Given the description of an element on the screen output the (x, y) to click on. 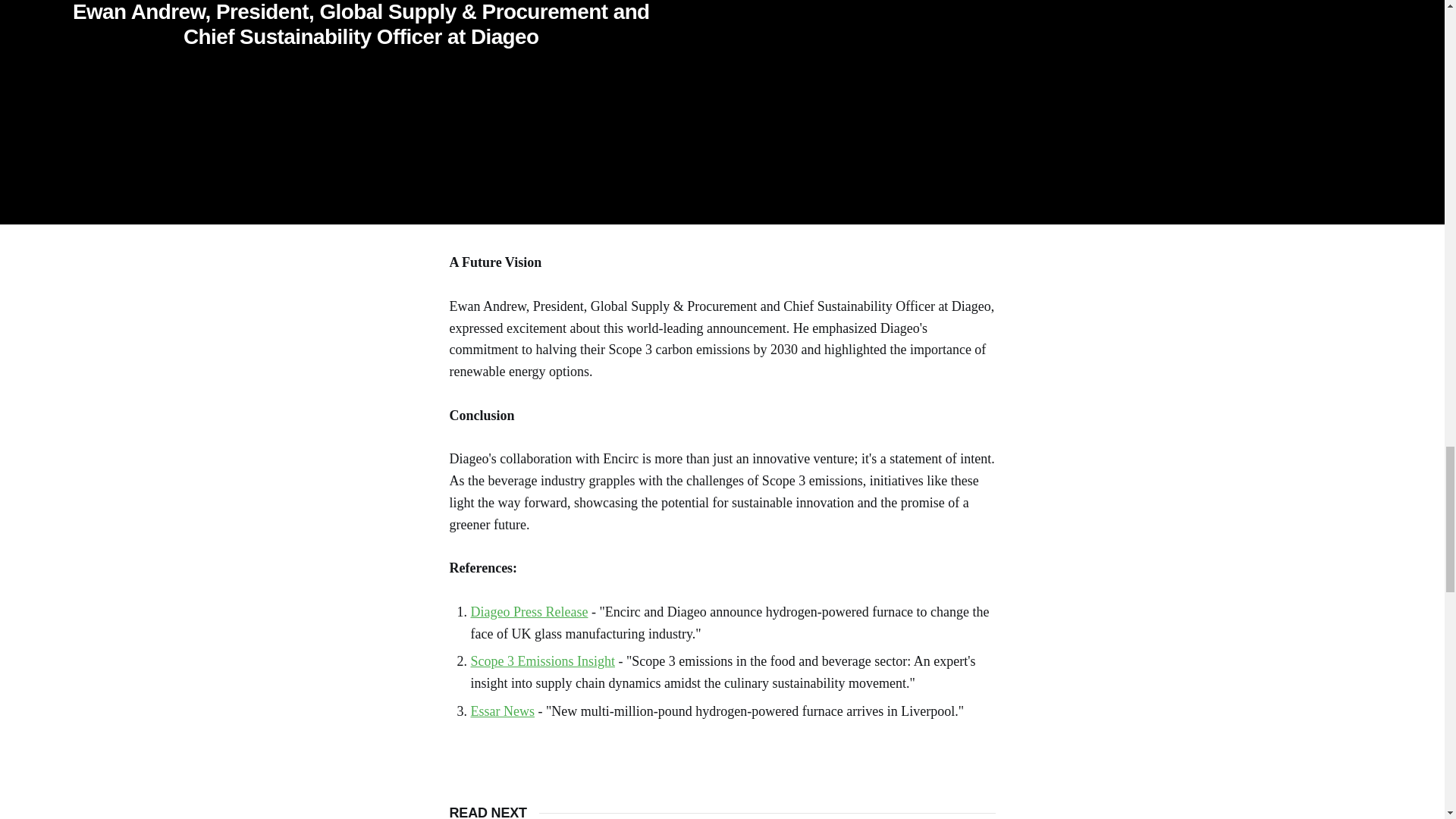
Essar News (502, 711)
Scope 3 Emissions Insight (542, 661)
Diageo Press Release (529, 611)
